Given the description of an element on the screen output the (x, y) to click on. 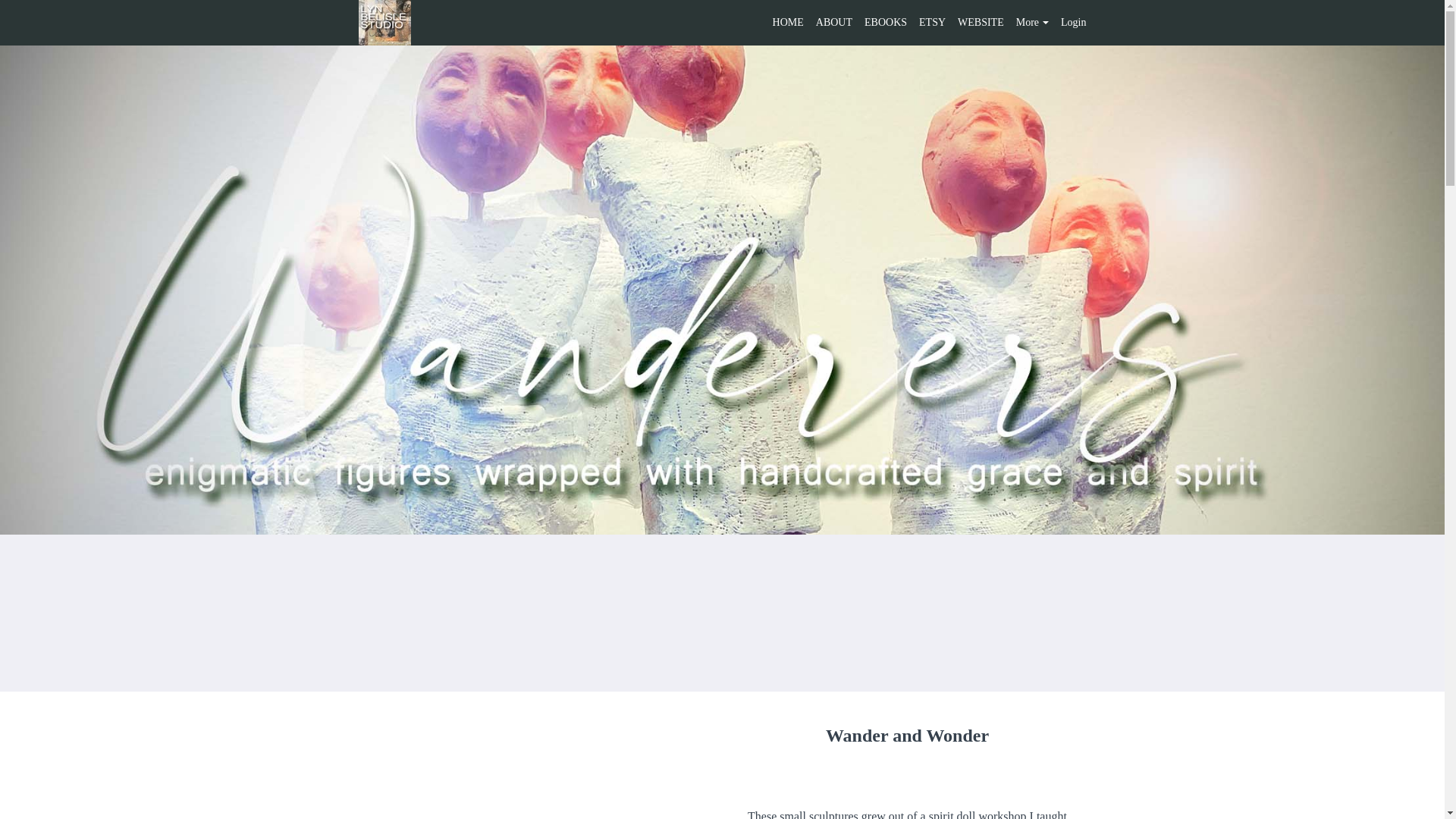
Login (1073, 22)
HOME (788, 22)
ETSY (931, 22)
ABOUT (833, 22)
More (1038, 22)
EBOOKS (885, 22)
WEBSITE (981, 22)
